Given the description of an element on the screen output the (x, y) to click on. 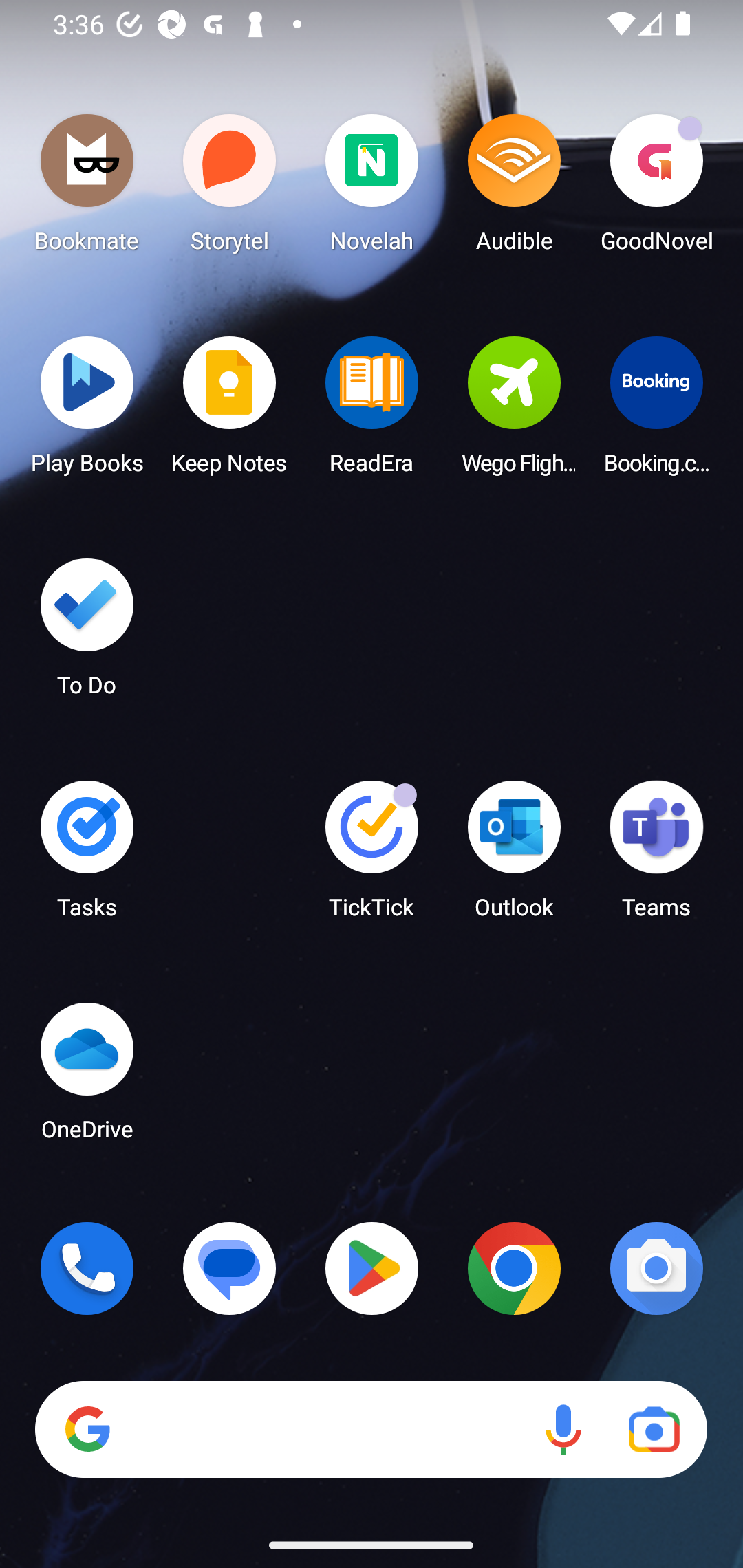
Bookmate (86, 188)
Storytel (229, 188)
Novelah (371, 188)
Audible (513, 188)
GoodNovel GoodNovel has 1 notification (656, 188)
Play Books (86, 410)
Keep Notes (229, 410)
ReadEra (371, 410)
Wego Flights & Hotels (513, 410)
Booking.com (656, 410)
To Do (86, 633)
Tasks (86, 854)
TickTick TickTick has 3 notifications (371, 854)
Outlook (513, 854)
Teams (656, 854)
OneDrive (86, 1076)
Phone (86, 1268)
Messages (229, 1268)
Play Store (371, 1268)
Chrome (513, 1268)
Camera (656, 1268)
Search Voice search Google Lens (370, 1429)
Voice search (562, 1429)
Google Lens (653, 1429)
